Given the description of an element on the screen output the (x, y) to click on. 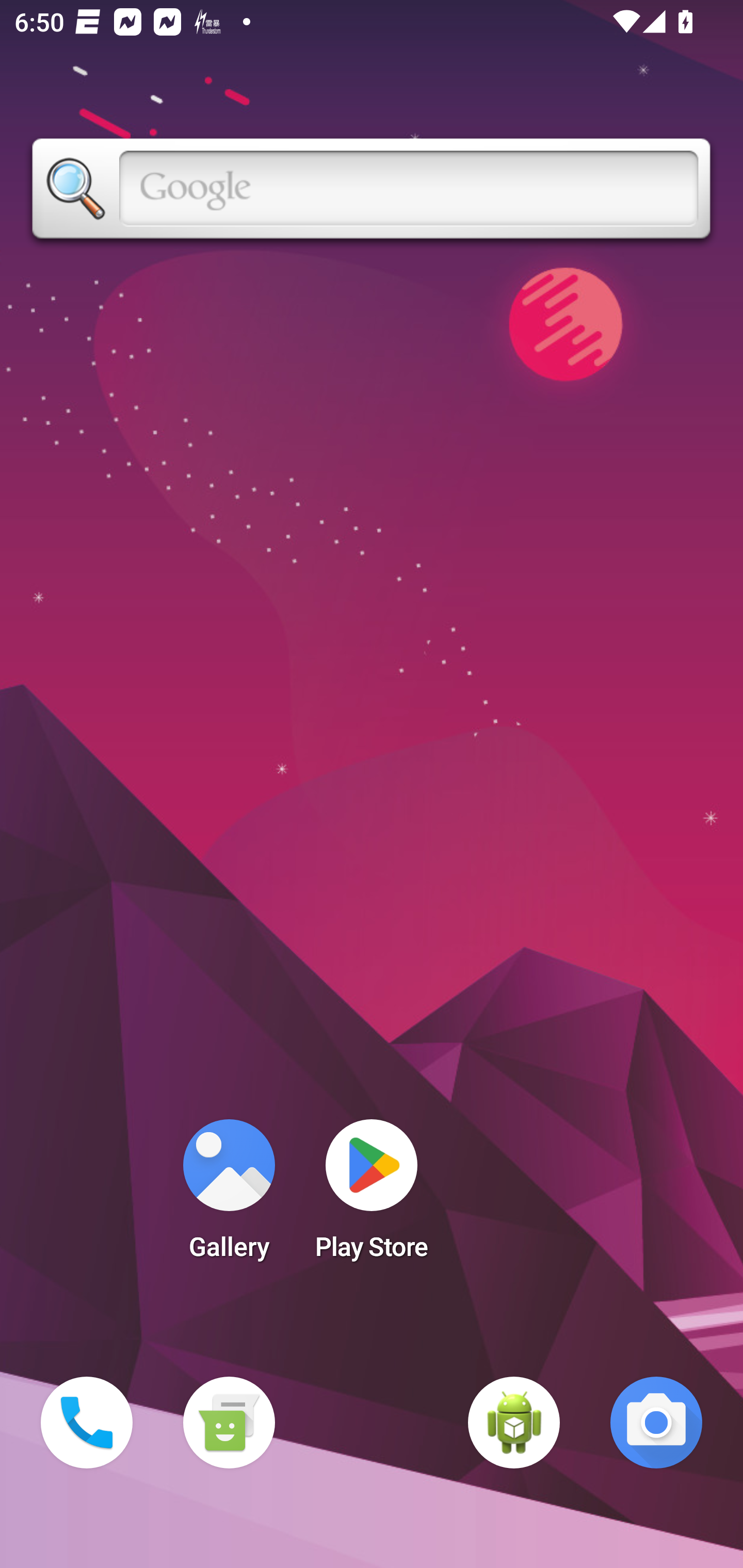
Gallery (228, 1195)
Play Store (371, 1195)
Phone (86, 1422)
Messaging (228, 1422)
WebView Browser Tester (513, 1422)
Camera (656, 1422)
